Given the description of an element on the screen output the (x, y) to click on. 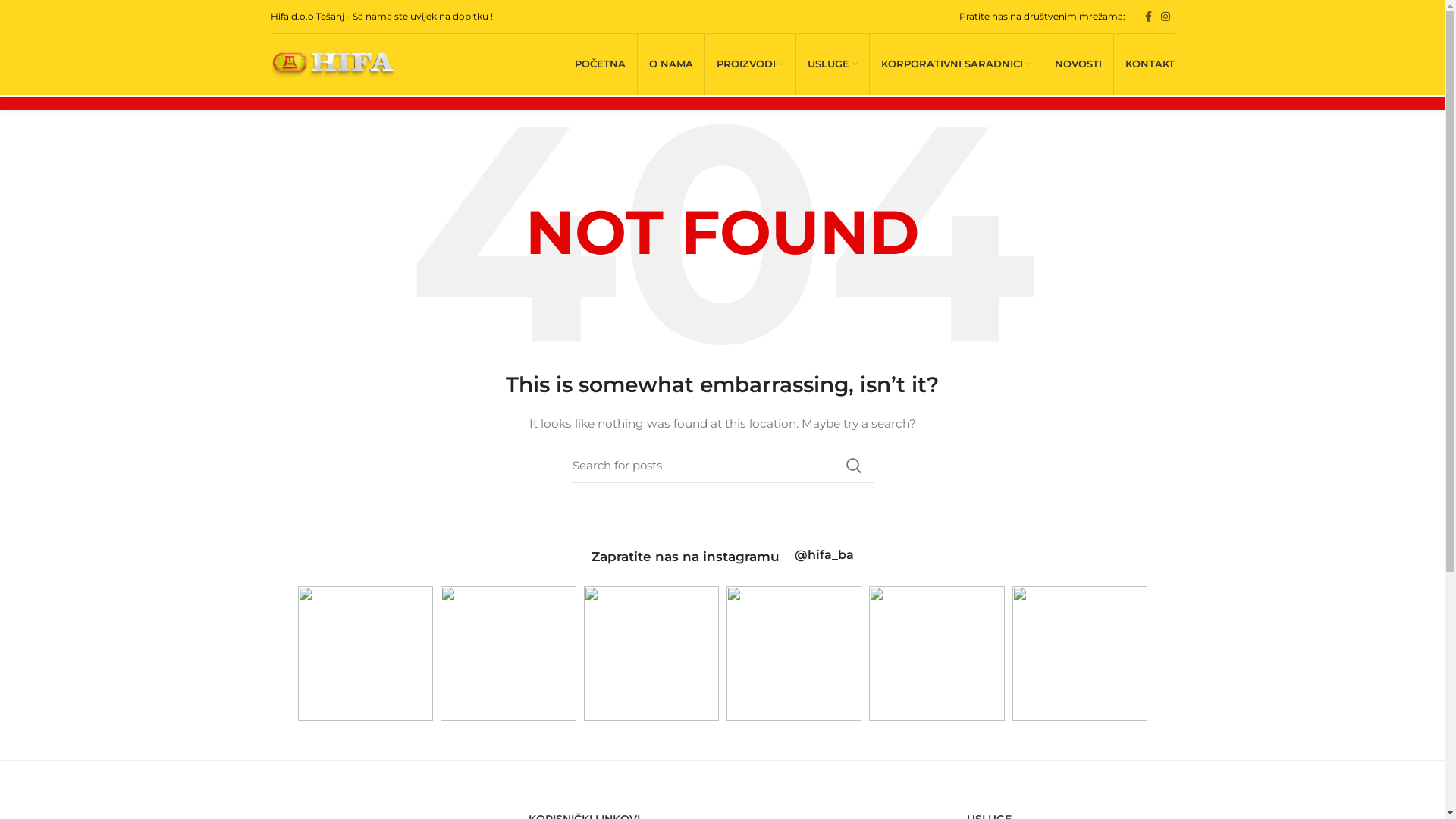
PROIZVODI Element type: text (750, 64)
Search for posts Element type: hover (721, 465)
SEARCH Element type: text (853, 465)
O NAMA Element type: text (670, 64)
NOVOSTI Element type: text (1078, 64)
KONTAKT Element type: text (1149, 64)
KORPORATIVNI SARADNICI Element type: text (955, 64)
USLUGE Element type: text (832, 64)
